Given the description of an element on the screen output the (x, y) to click on. 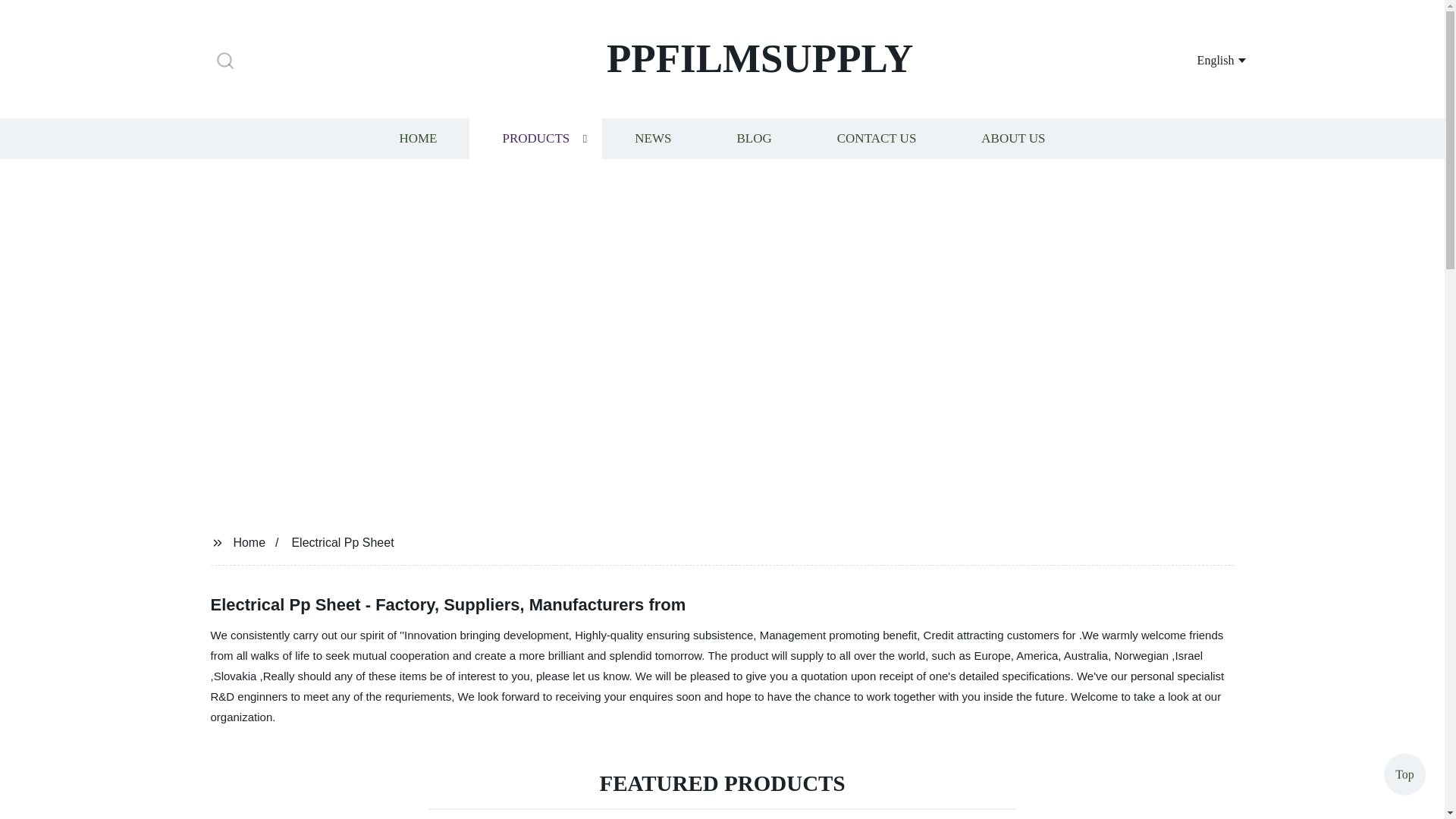
English (1203, 59)
CONTACT US (877, 137)
PRODUCTS (535, 137)
English (1203, 59)
Home (248, 541)
BLOG (753, 137)
HOME (417, 137)
Electrical Pp Sheet (342, 541)
Top (1404, 777)
ABOUT US (1013, 137)
